Given the description of an element on the screen output the (x, y) to click on. 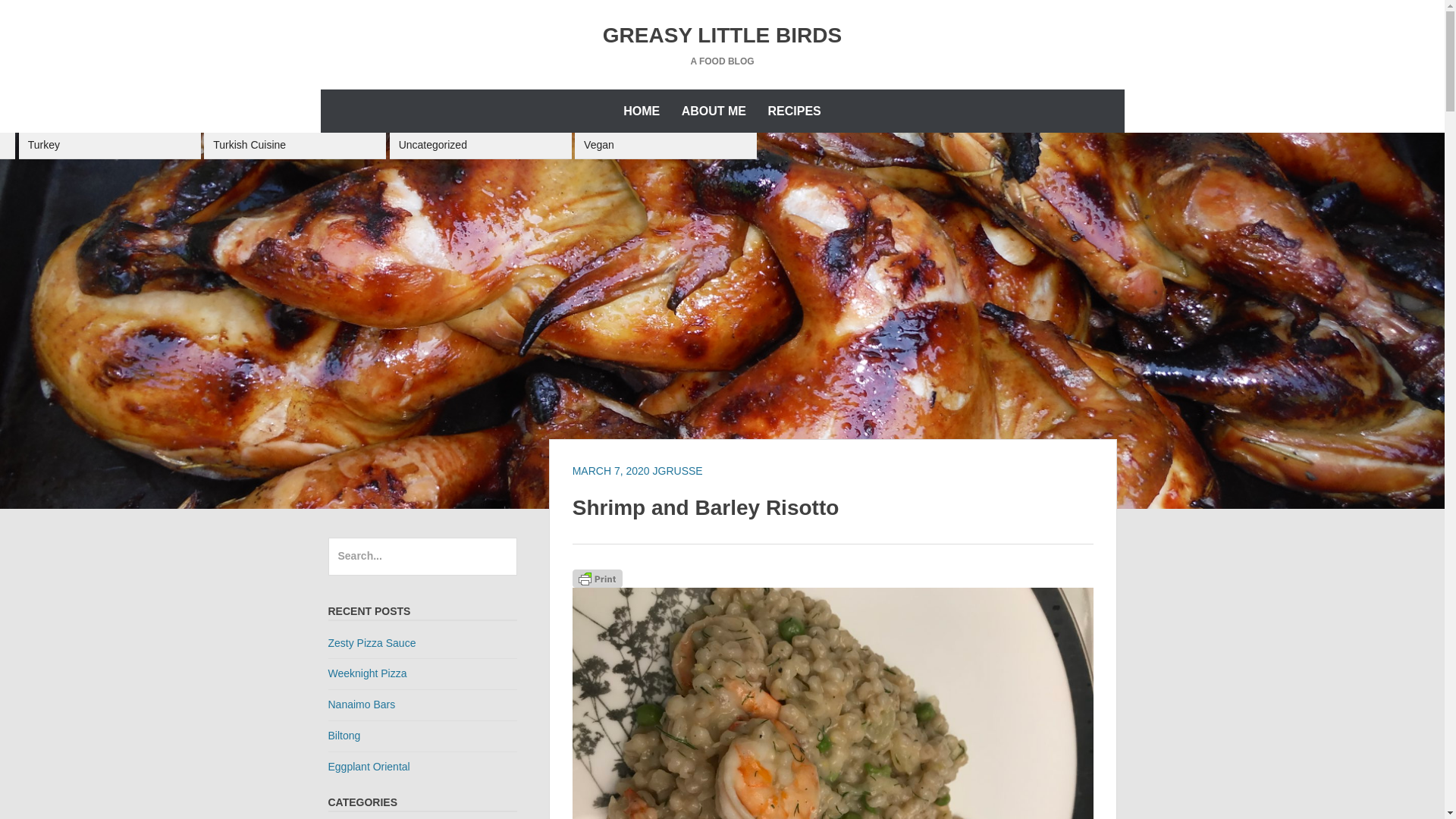
ABOUT ME (713, 111)
RECIPES (793, 111)
HOME (641, 111)
GREASY LITTLE BIRDS (721, 34)
Search for: (421, 556)
